Given the description of an element on the screen output the (x, y) to click on. 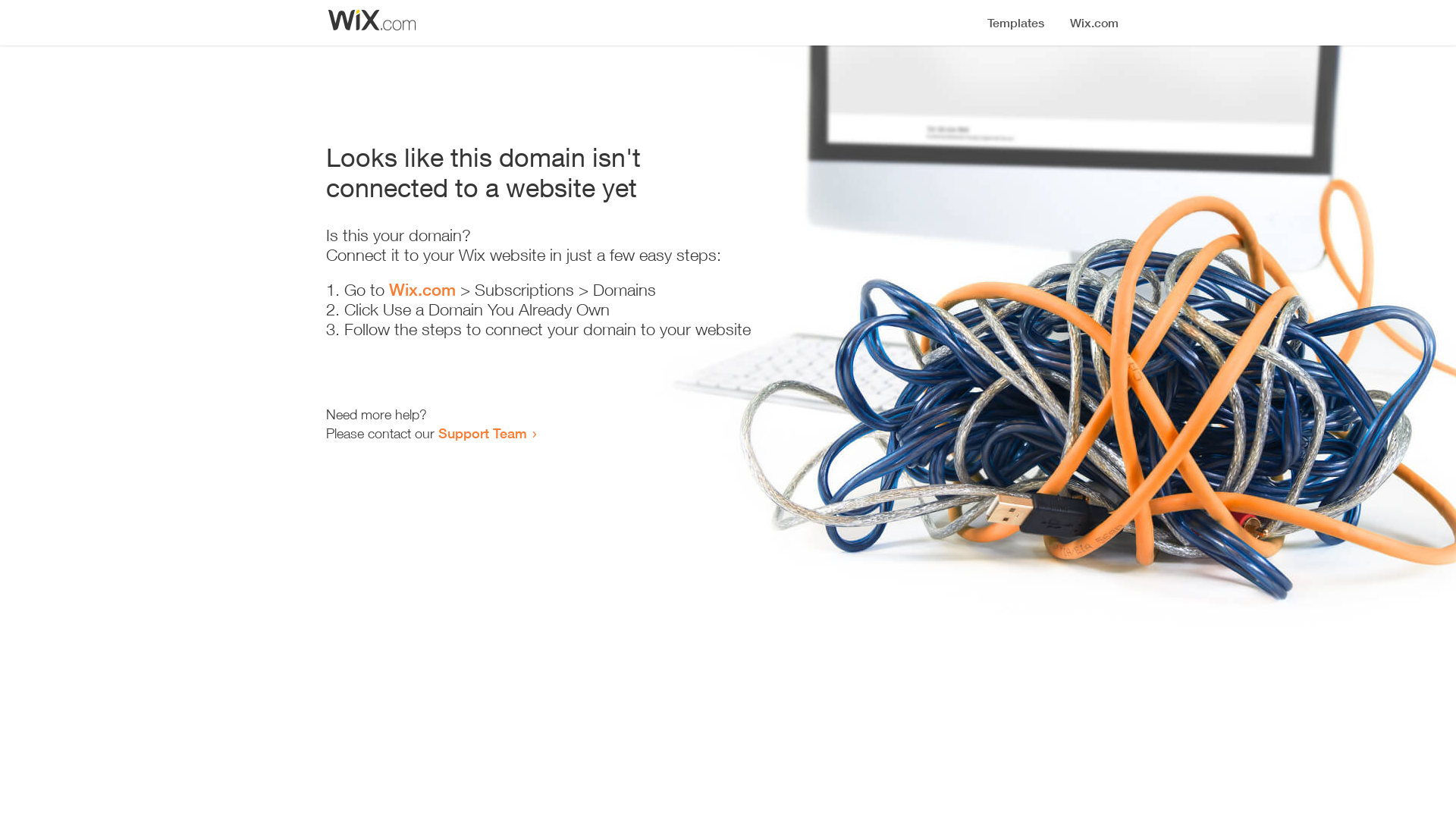
Wix.com Element type: text (422, 289)
Support Team Element type: text (482, 432)
